Given the description of an element on the screen output the (x, y) to click on. 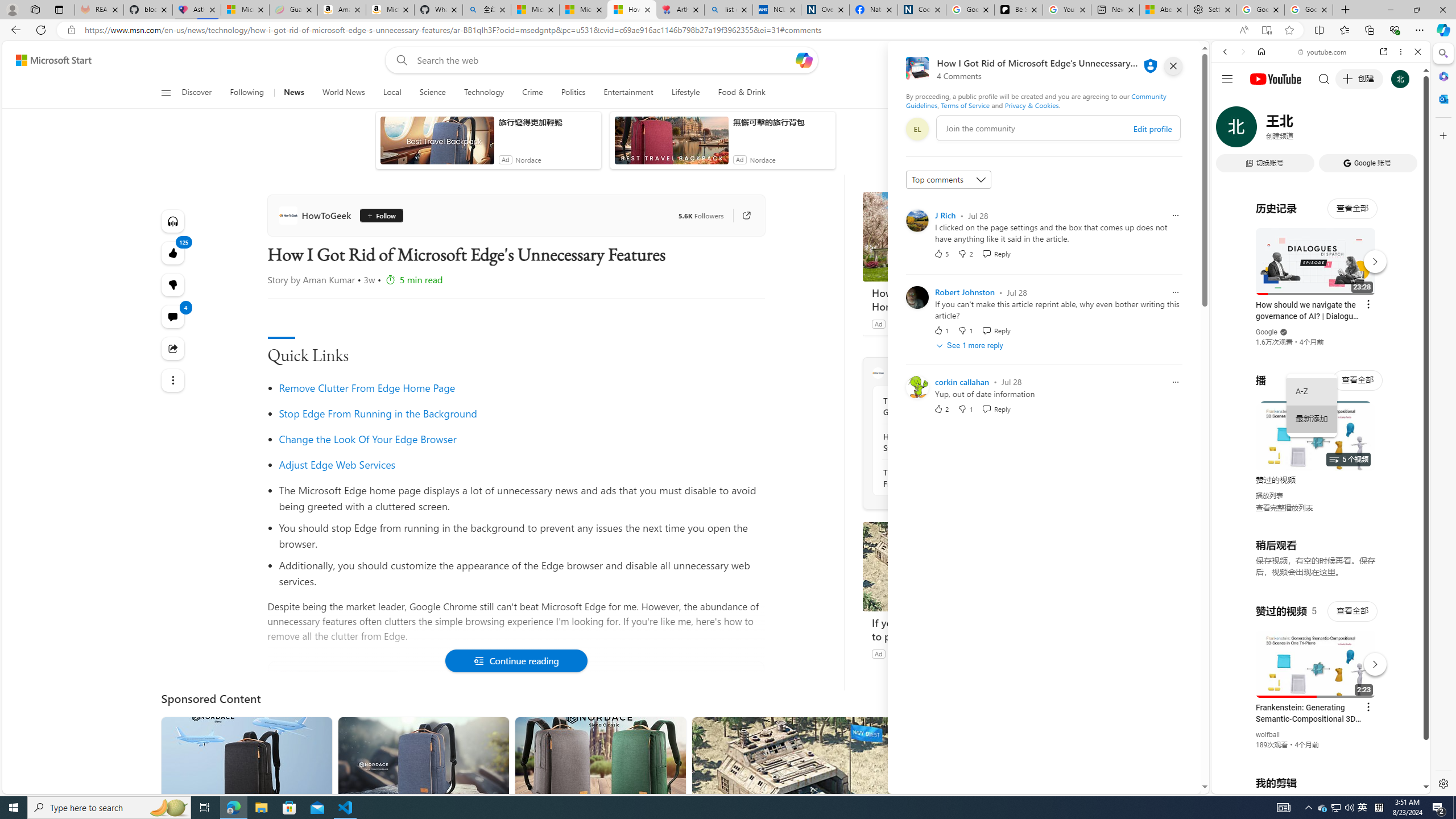
Crime (531, 92)
Change the Look Of Your Edge Browser (367, 438)
